Given the description of an element on the screen output the (x, y) to click on. 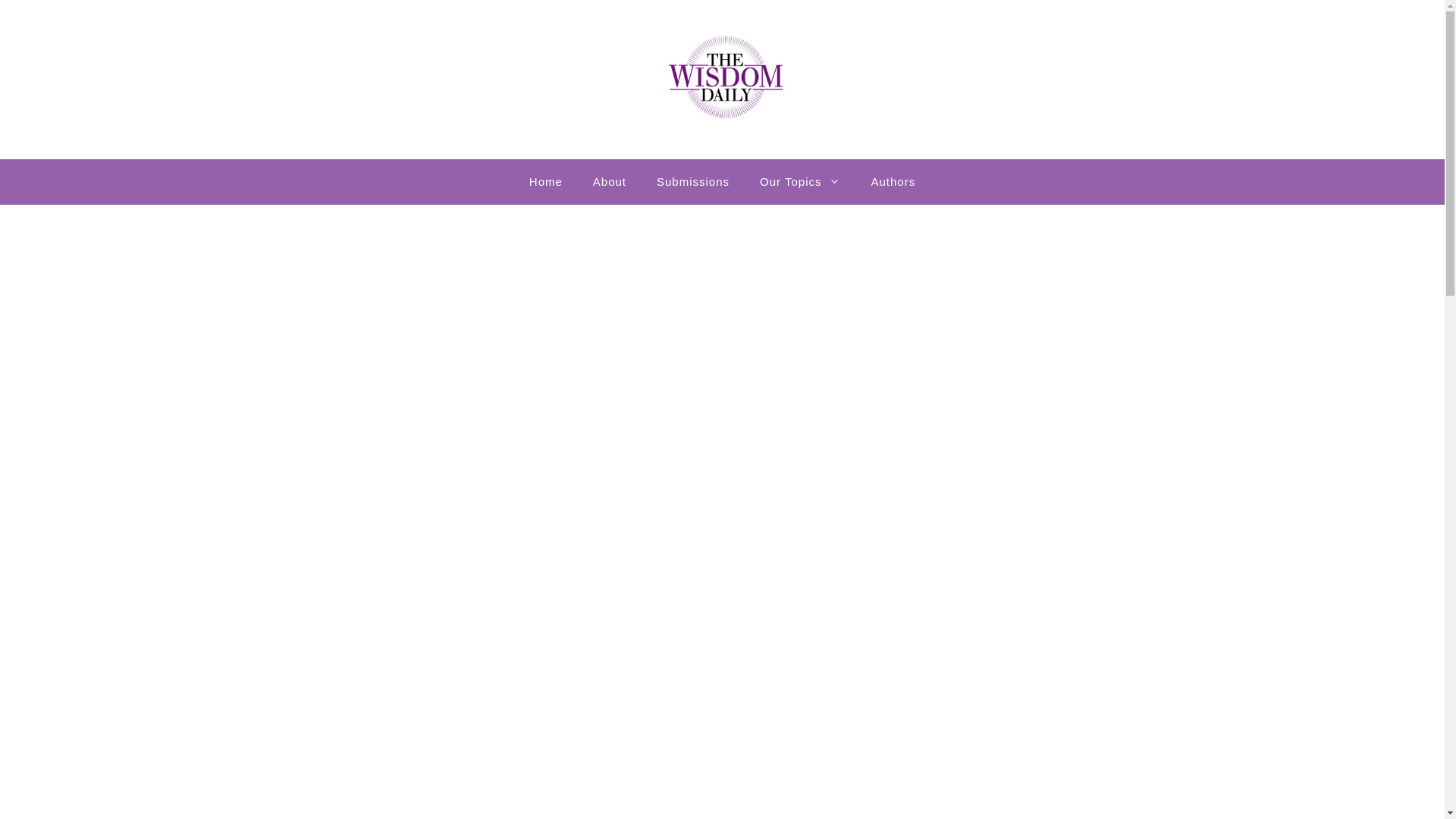
Submissions (693, 181)
Home (545, 181)
Authors (893, 181)
Our Topics (800, 181)
About (610, 181)
